Given the description of an element on the screen output the (x, y) to click on. 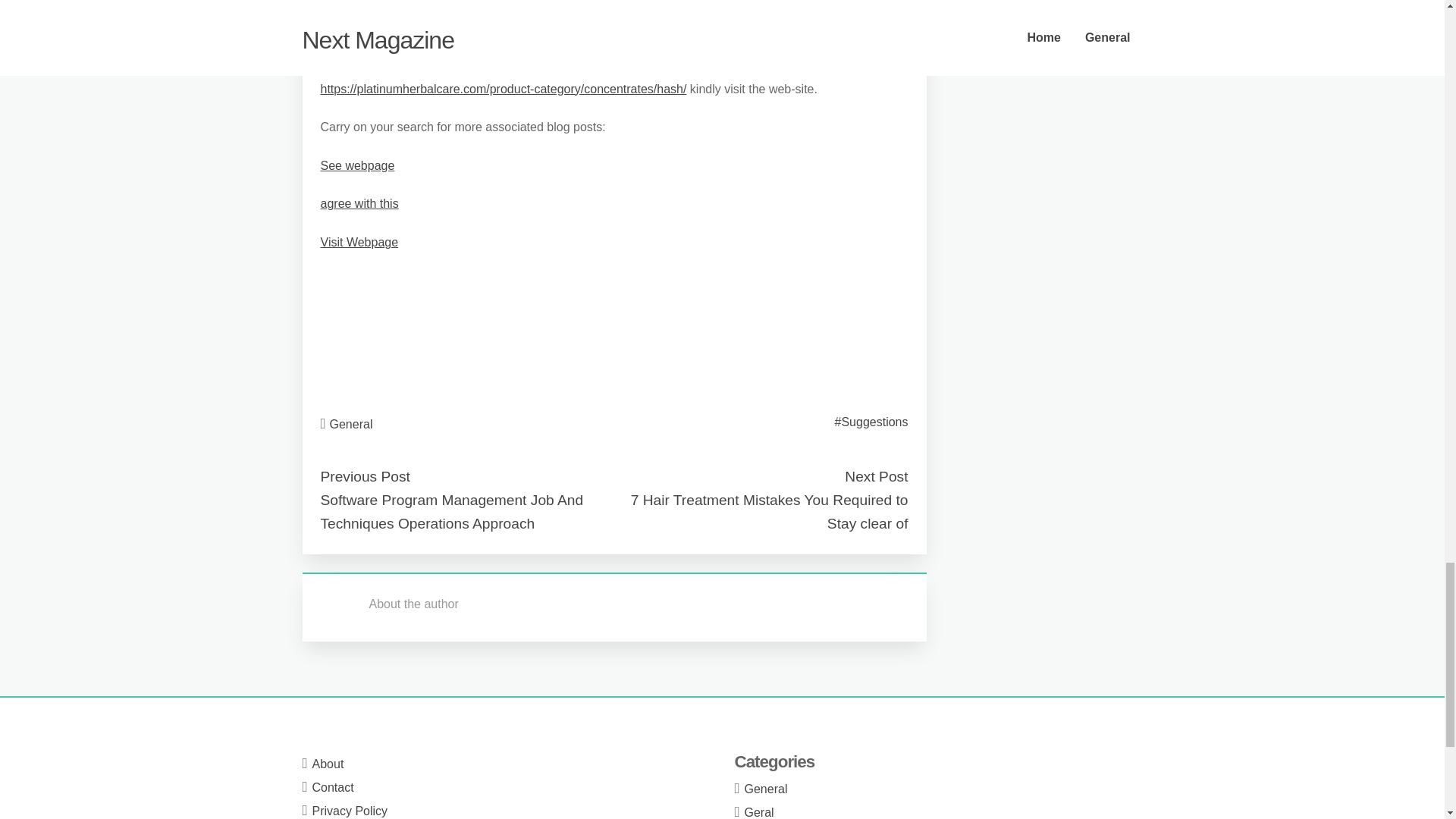
7 Hair Treatment Mistakes You Required to Stay clear of (769, 511)
agree with this (358, 203)
Next Post (875, 476)
Visit Webpage (358, 241)
See webpage (357, 164)
About (328, 763)
Previous Post (364, 476)
General (351, 423)
